Given the description of an element on the screen output the (x, y) to click on. 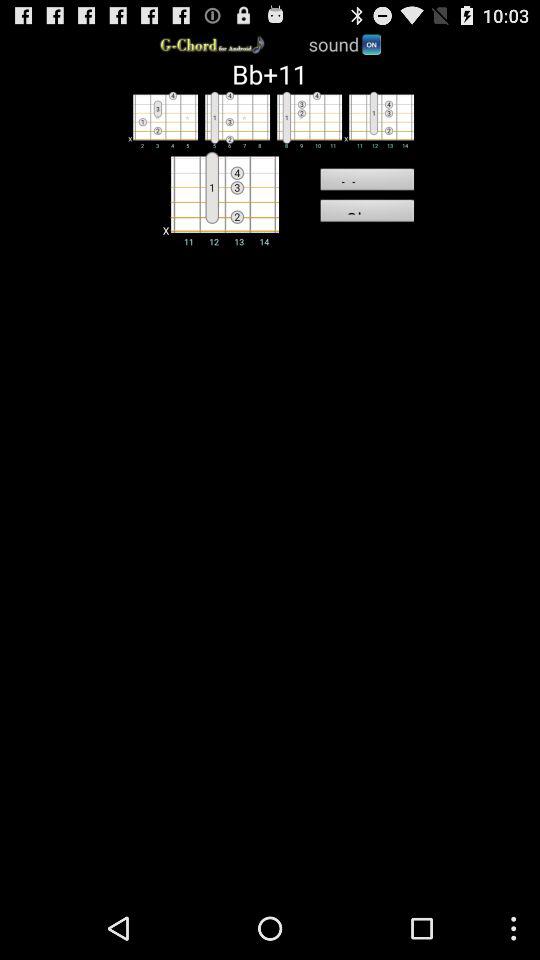
click the clear (366, 213)
